Given the description of an element on the screen output the (x, y) to click on. 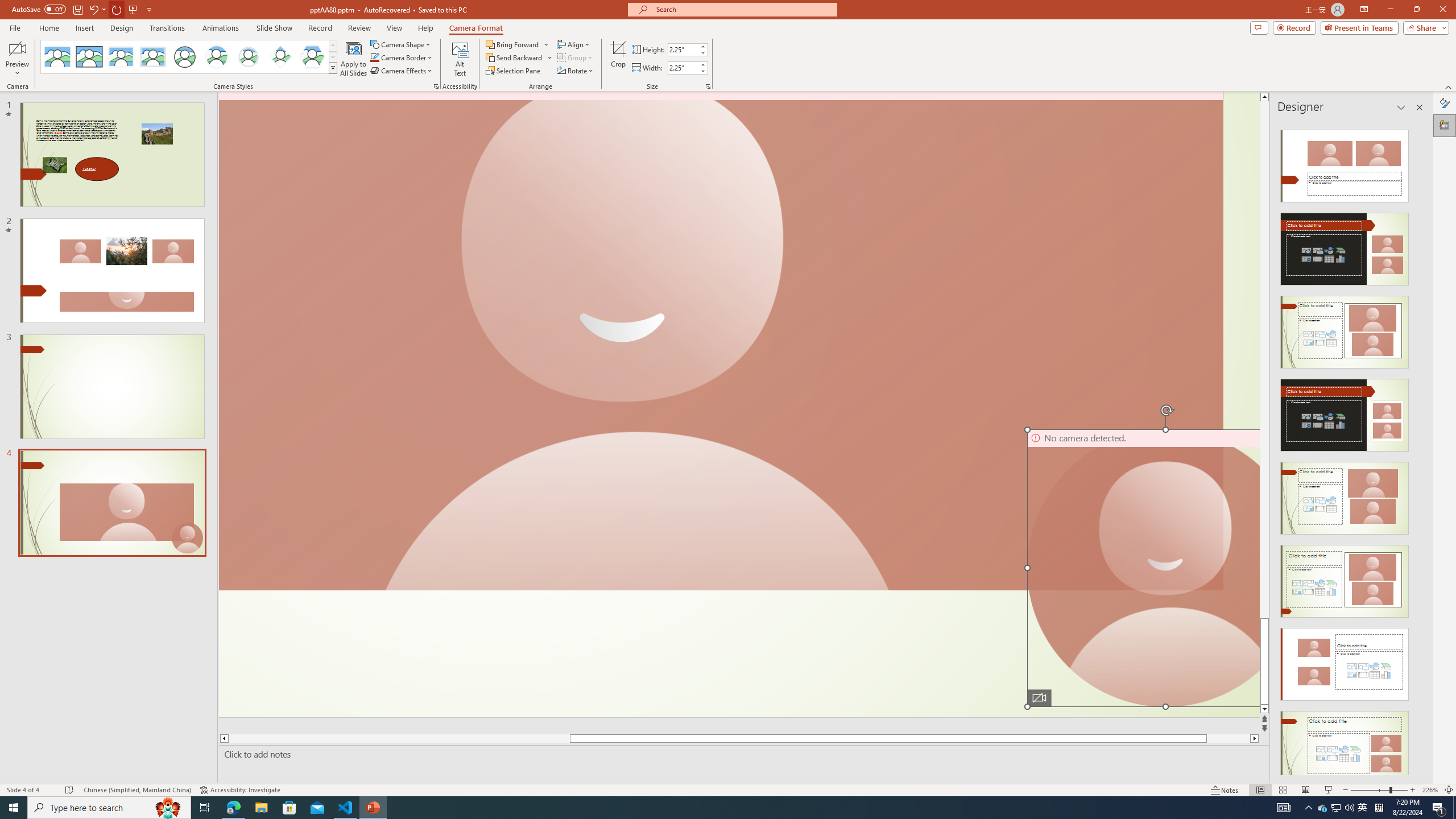
Camera Effects (402, 69)
Cameo Height (682, 49)
Soft Edge Rectangle (152, 56)
No Style (57, 56)
Camera 4, No camera detected. (1142, 567)
Center Shadow Circle (216, 56)
